Given the description of an element on the screen output the (x, y) to click on. 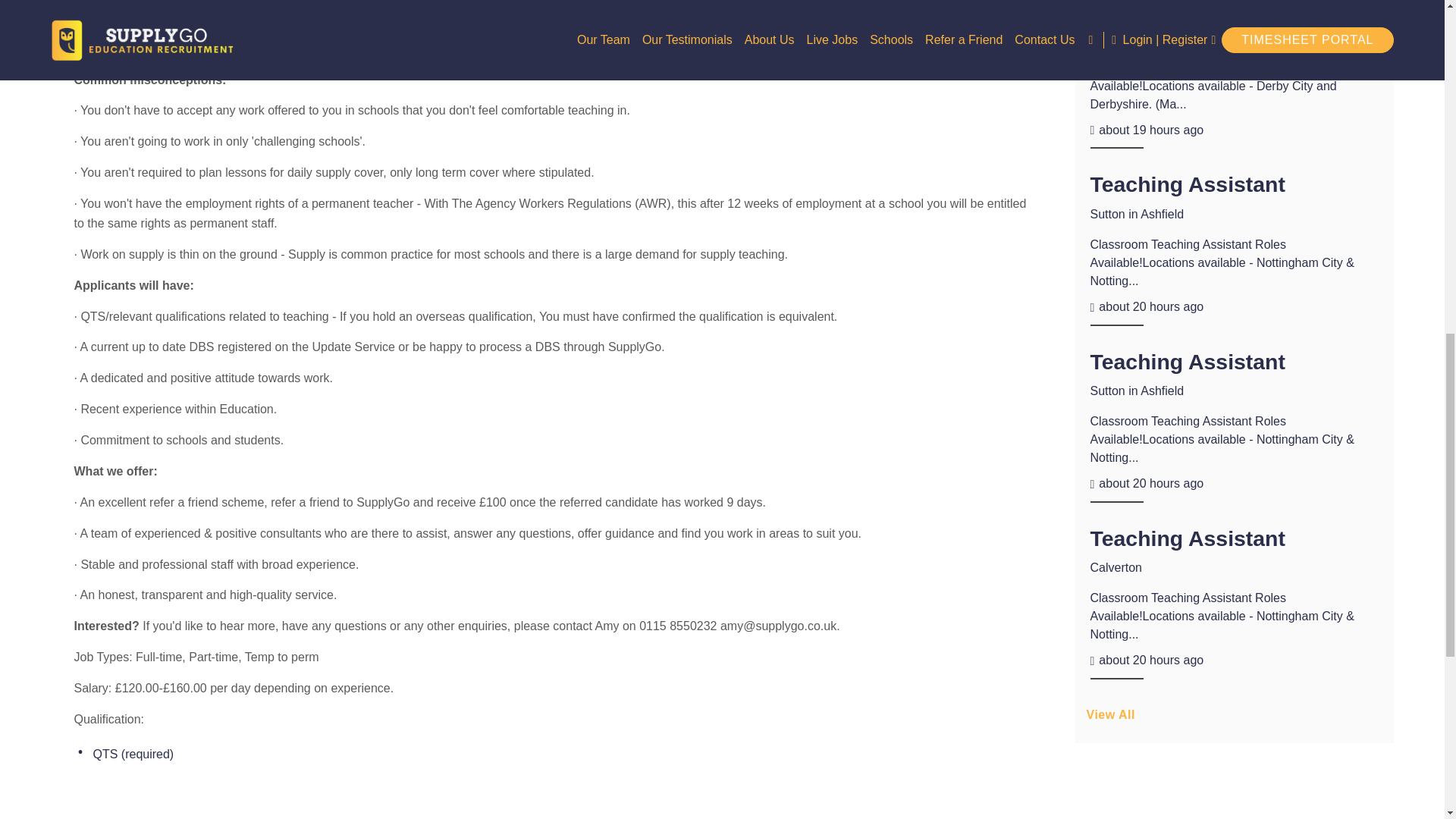
View All (1234, 720)
